Given the description of an element on the screen output the (x, y) to click on. 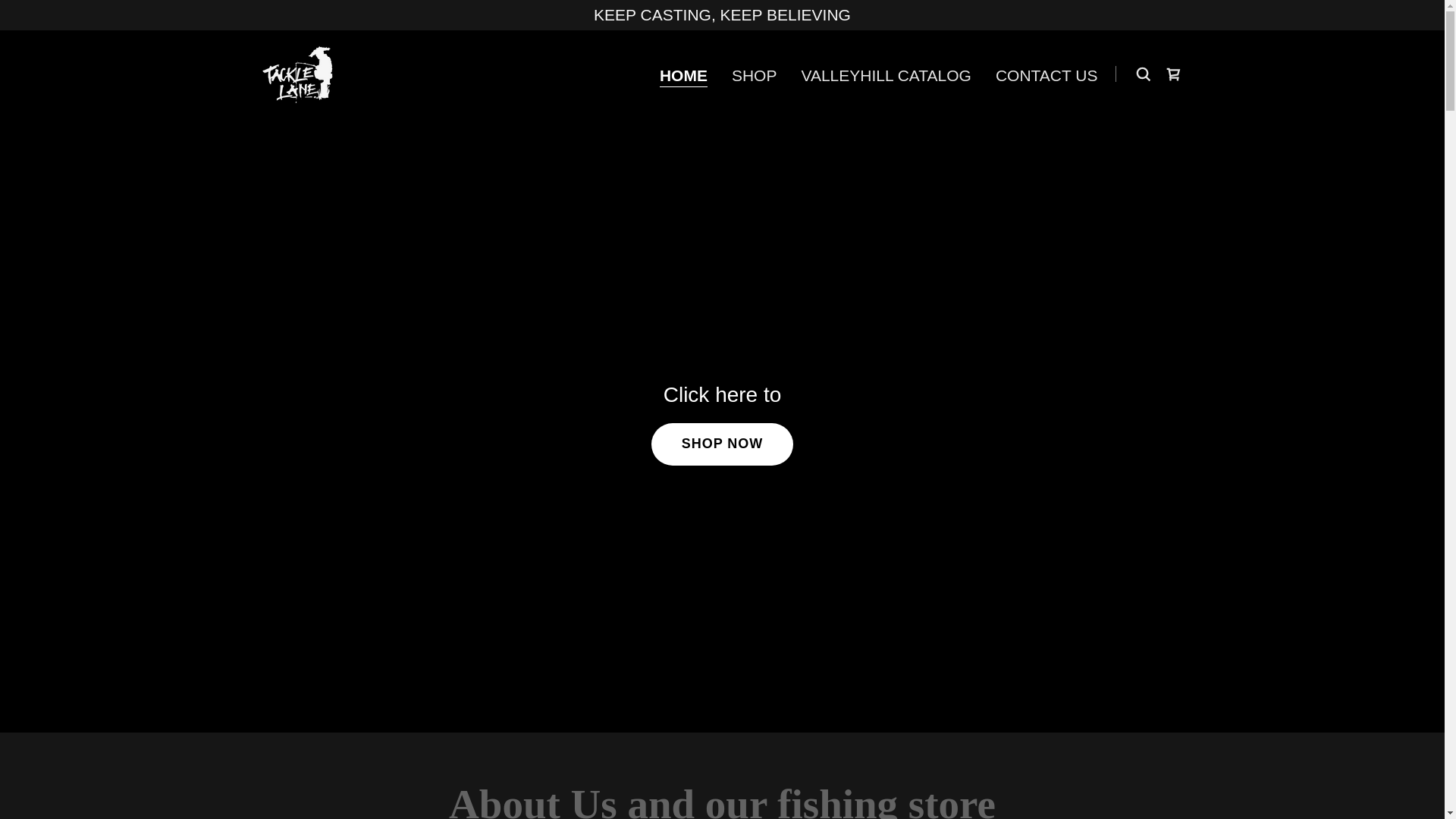
HOME (683, 76)
CONTACT US (1046, 75)
SHOP (753, 75)
VALLEYHILL CATALOG (885, 75)
SHOP NOW (721, 444)
Tackle Lane (298, 72)
